Given the description of an element on the screen output the (x, y) to click on. 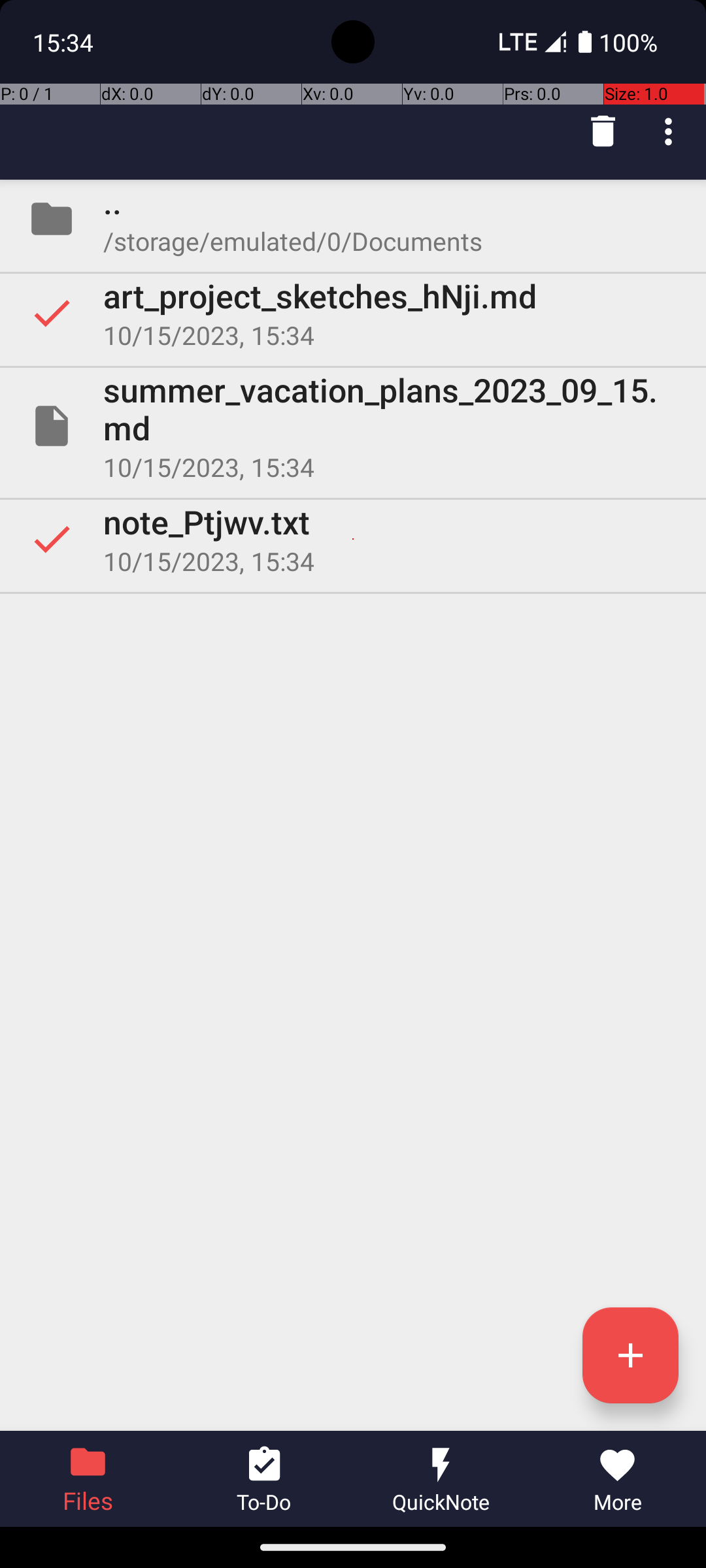
Selected art_project_sketches_hNji.md  Element type: android.widget.LinearLayout (353, 312)
File summer_vacation_plans_2023_09_15.md  Element type: android.widget.LinearLayout (353, 425)
Selected note_Ptjwv.txt 10/15/2023, 15:34 Element type: android.widget.LinearLayout (353, 538)
